Given the description of an element on the screen output the (x, y) to click on. 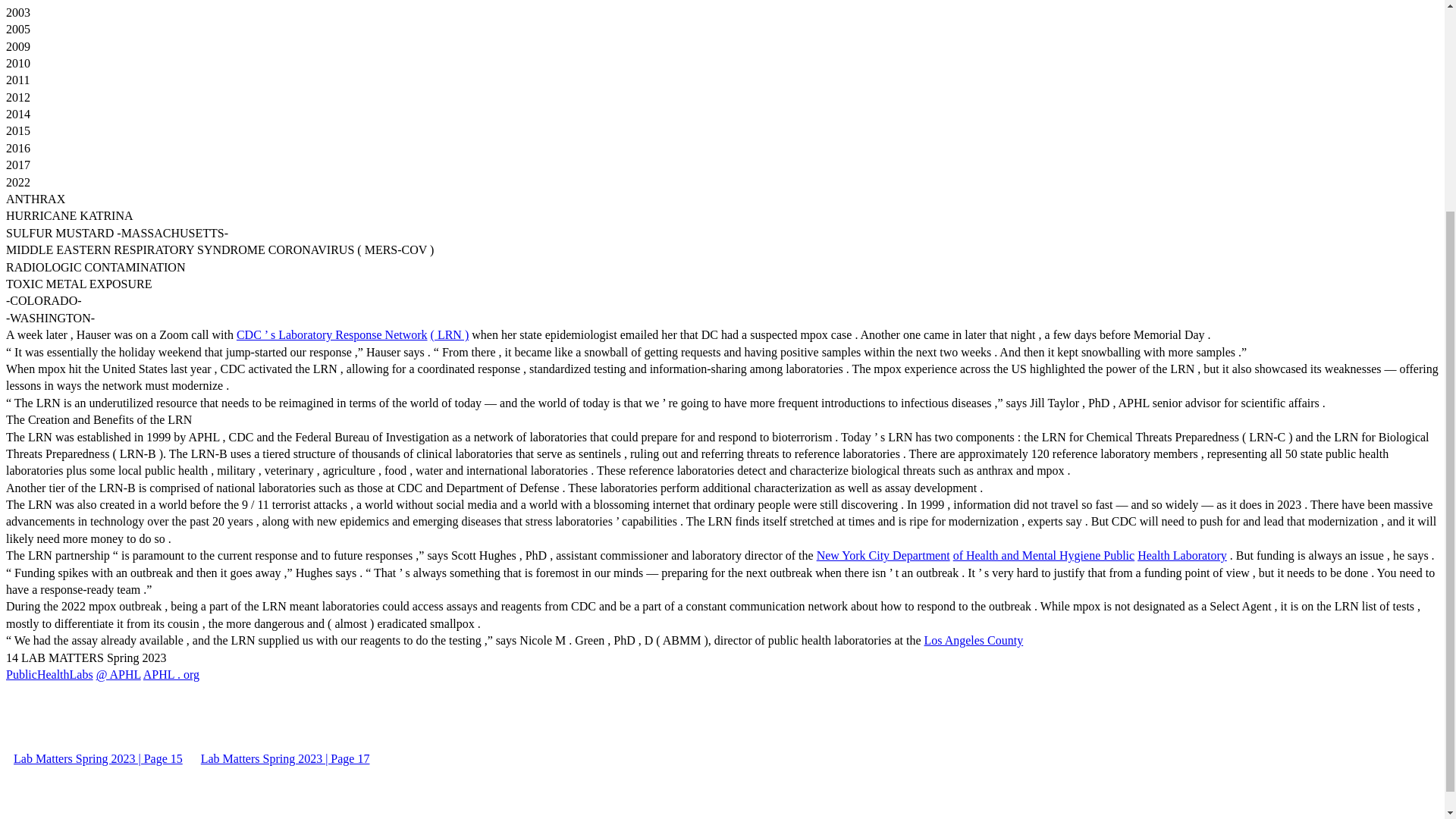
Health Laboratory (1182, 554)
New York City Department (883, 554)
Los Angeles County (973, 640)
of Health and Mental Hygiene Public (1044, 554)
PublicHealthLabs (49, 674)
APHL . org (170, 674)
